Given the description of an element on the screen output the (x, y) to click on. 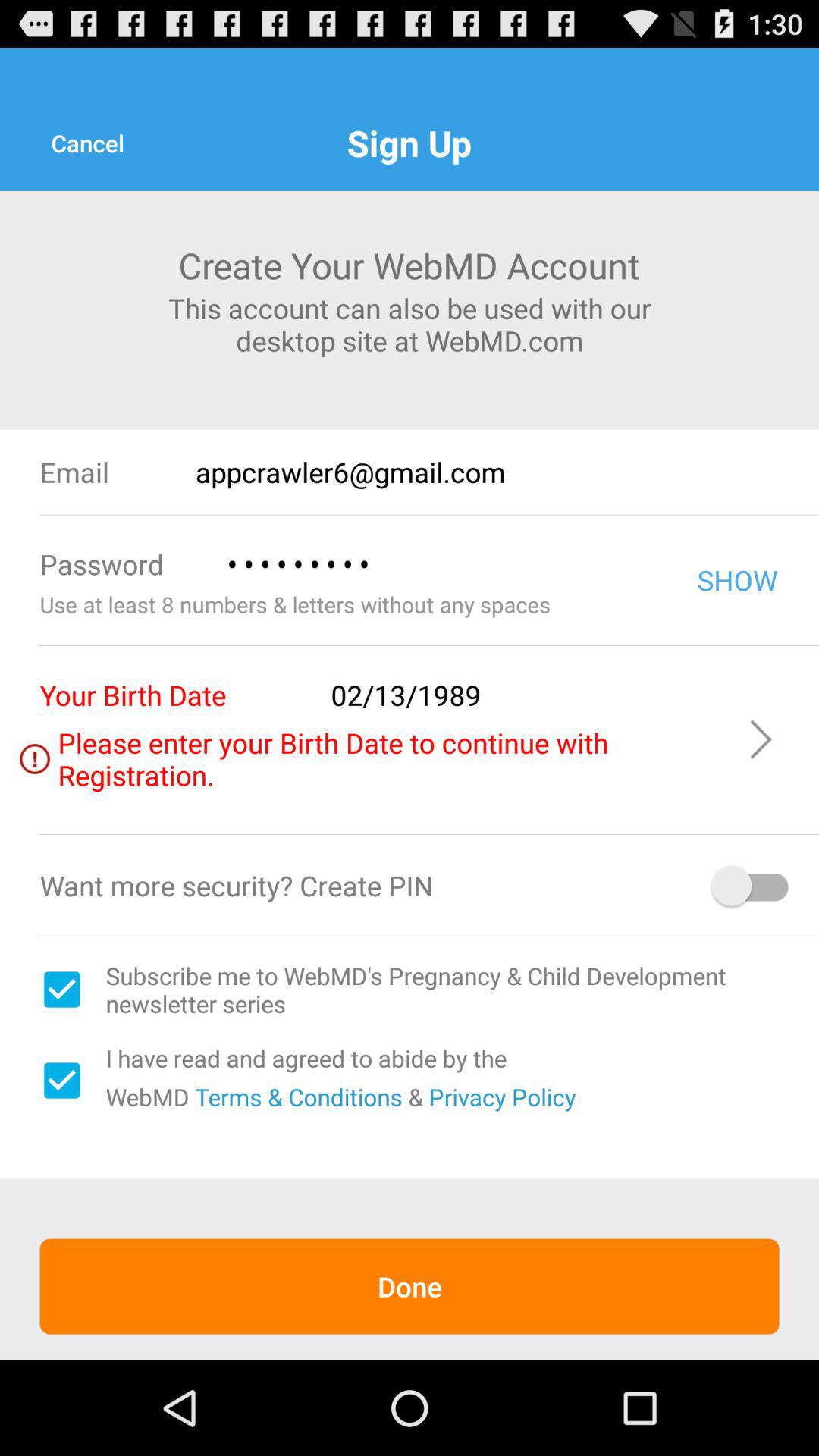
turn off the item to the right of the  &  item (502, 1096)
